Given the description of an element on the screen output the (x, y) to click on. 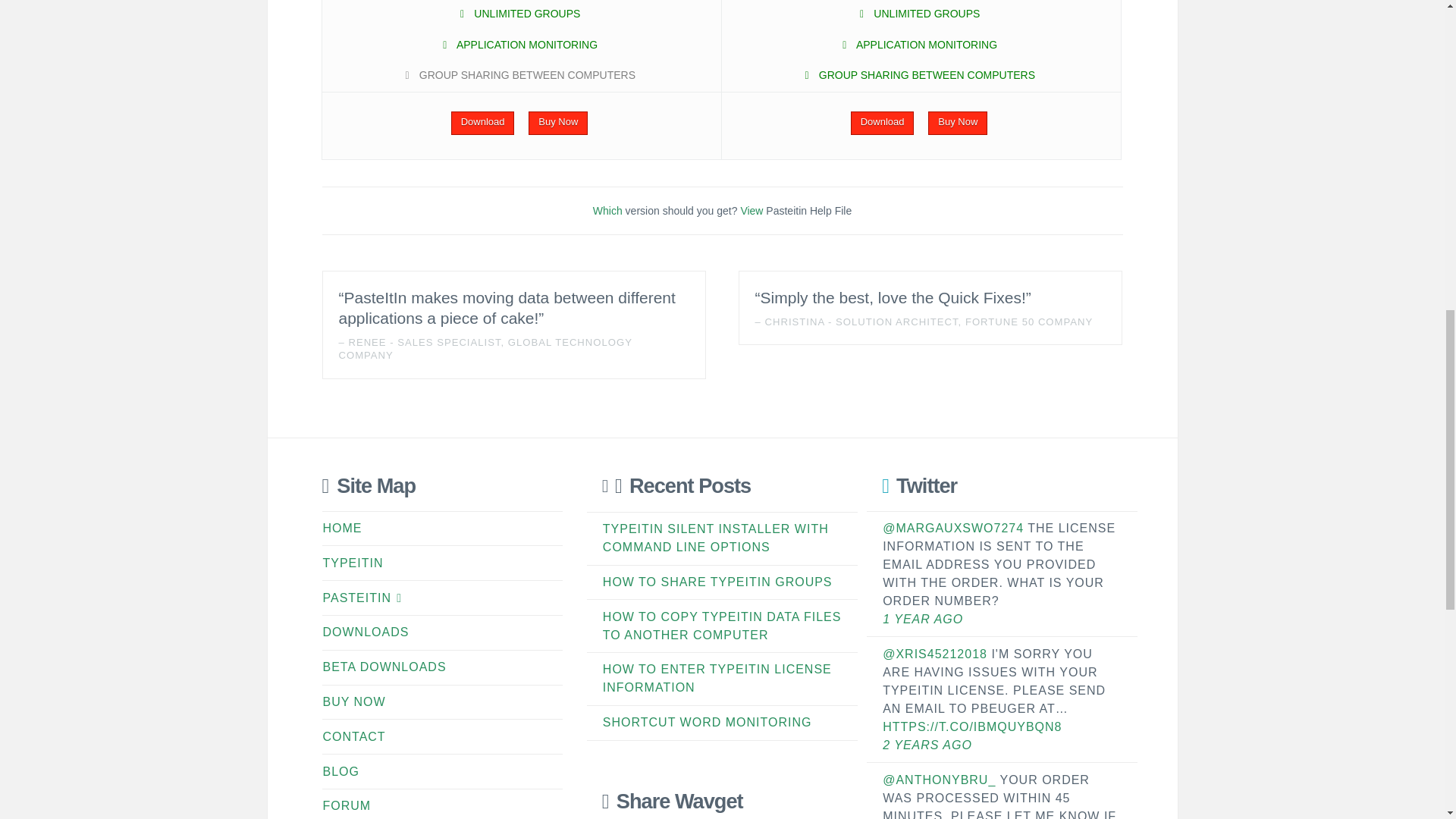
HOW TO COPY TYPEITIN DATA FILES TO ANOTHER COMPUTER (721, 625)
CONTACT (362, 737)
PASTEITIN (370, 597)
View (750, 210)
HOW TO ENTER TYPEITIN LICENSE INFORMATION (716, 677)
FORUM (355, 805)
SHORTCUT WORD MONITORING (707, 721)
Download (882, 123)
TYPEITIN (360, 563)
HOW TO SHARE TYPEITIN GROUPS (717, 581)
TYPEITIN SILENT INSTALLER WITH COMMAND LINE OPTIONS (715, 537)
DOWNLOADS (374, 632)
BLOG (348, 771)
HOME (350, 528)
Buy Now (957, 123)
